Given the description of an element on the screen output the (x, y) to click on. 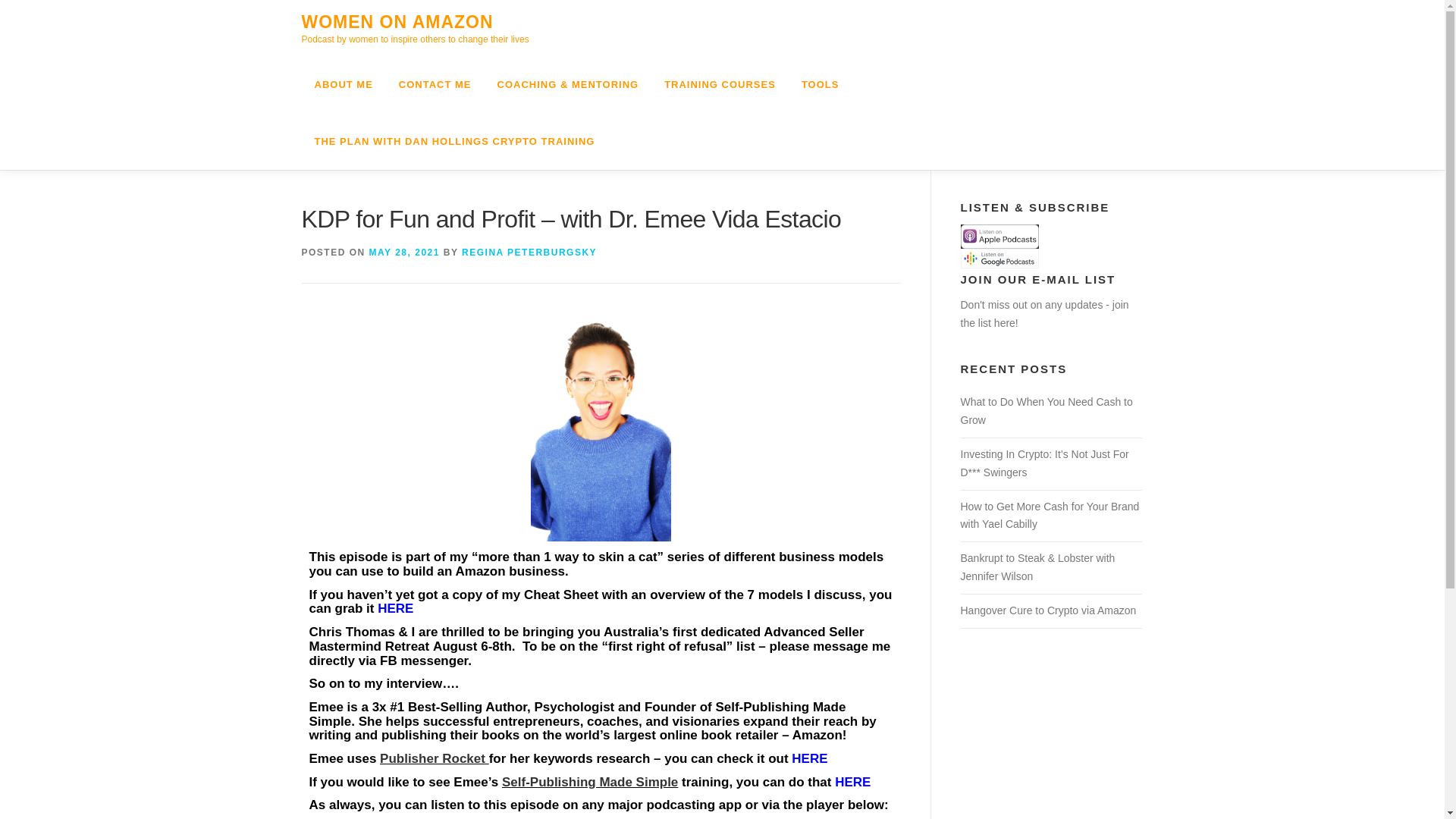
REGINA PETERBURGSKY (528, 252)
CONTACT ME (434, 84)
Self-Publishing Made Simple (590, 781)
THE PLAN WITH DAN HOLLINGS CRYPTO TRAINING (448, 141)
MAY 28, 2021 (404, 252)
HERE (395, 608)
Publisher Rocket (432, 758)
What to Do When You Need Cash to Grow (1045, 410)
ABOUT ME (343, 84)
HERE (809, 758)
TOOLS (820, 84)
TRAINING COURSES (719, 84)
HERE (852, 781)
WOMEN ON AMAZON (397, 21)
